Given the description of an element on the screen output the (x, y) to click on. 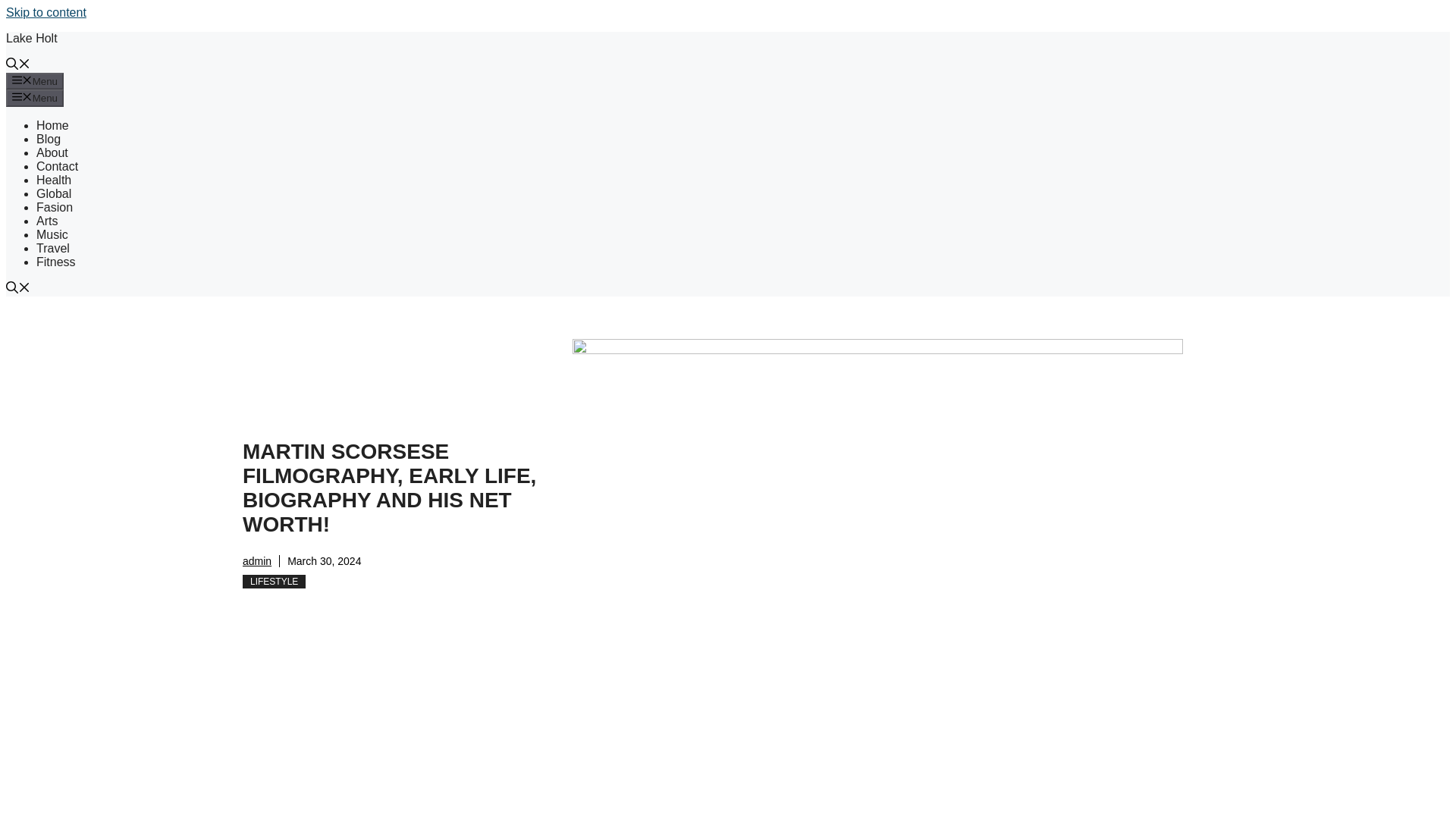
Menu (34, 80)
Lake Holt (31, 38)
Menu (34, 97)
Home (52, 124)
Arts (47, 220)
Health (53, 179)
Fitness (55, 261)
Contact (57, 165)
Travel (52, 247)
LIFESTYLE (274, 581)
